Given the description of an element on the screen output the (x, y) to click on. 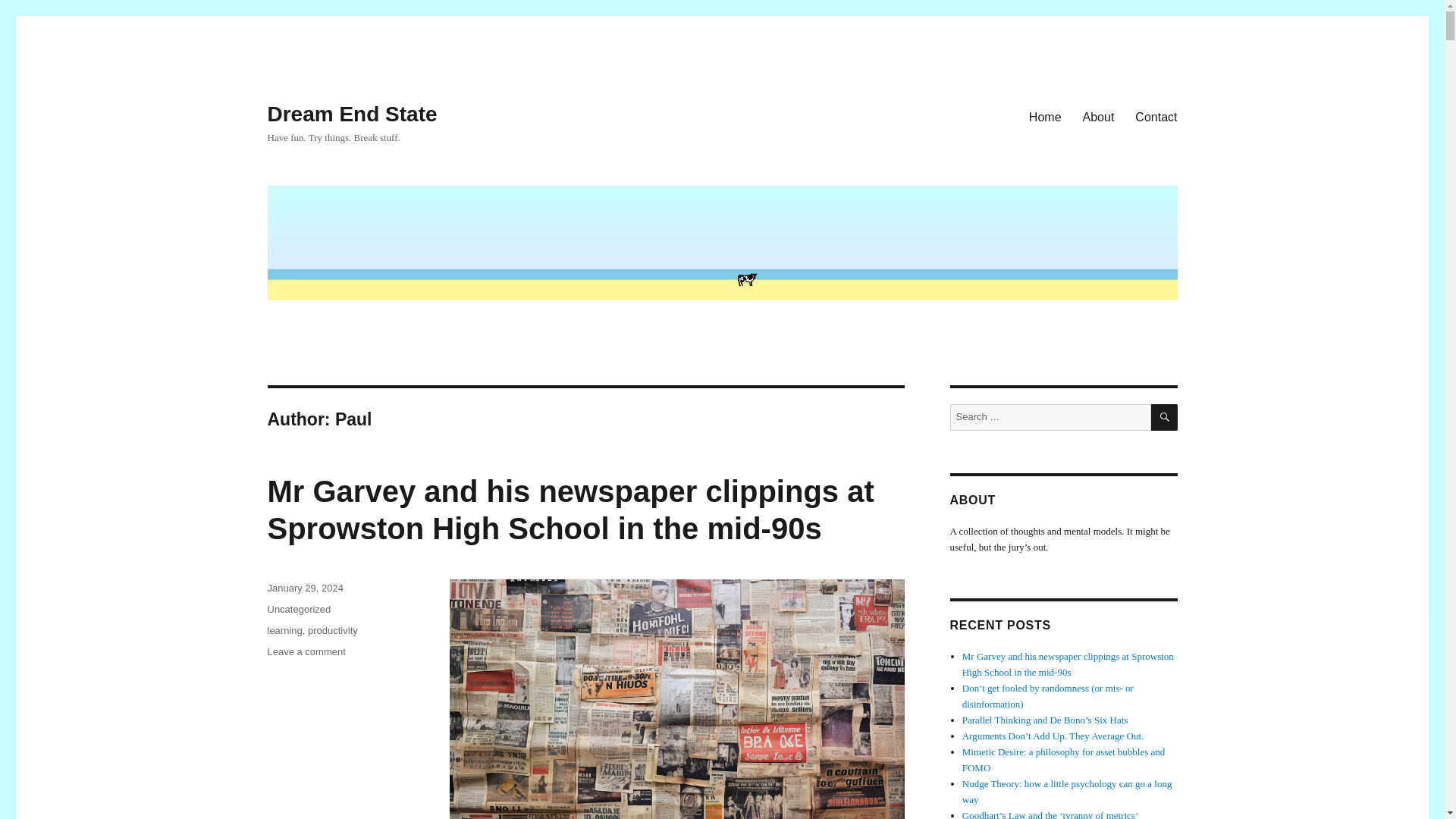
Home (1044, 116)
Dream End State (351, 114)
January 29, 2024 (304, 587)
About (1098, 116)
Contact (1156, 116)
productivity (332, 630)
Uncategorized (298, 609)
learning (283, 630)
